Given the description of an element on the screen output the (x, y) to click on. 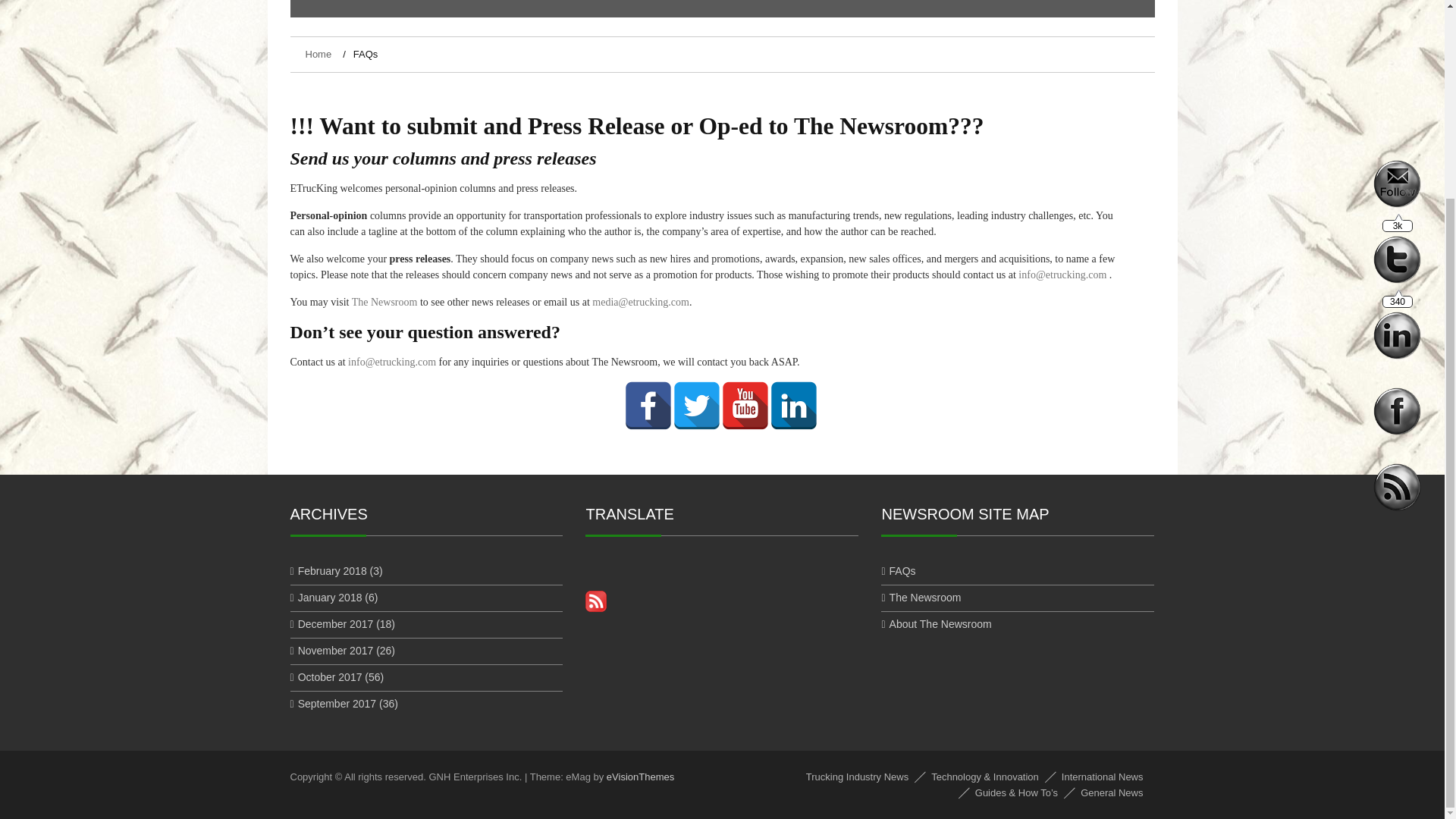
LinkedIn (794, 388)
YouTube (745, 388)
Facebook (648, 388)
Subscribe to Posts (596, 608)
Twitter (696, 388)
